Given the description of an element on the screen output the (x, y) to click on. 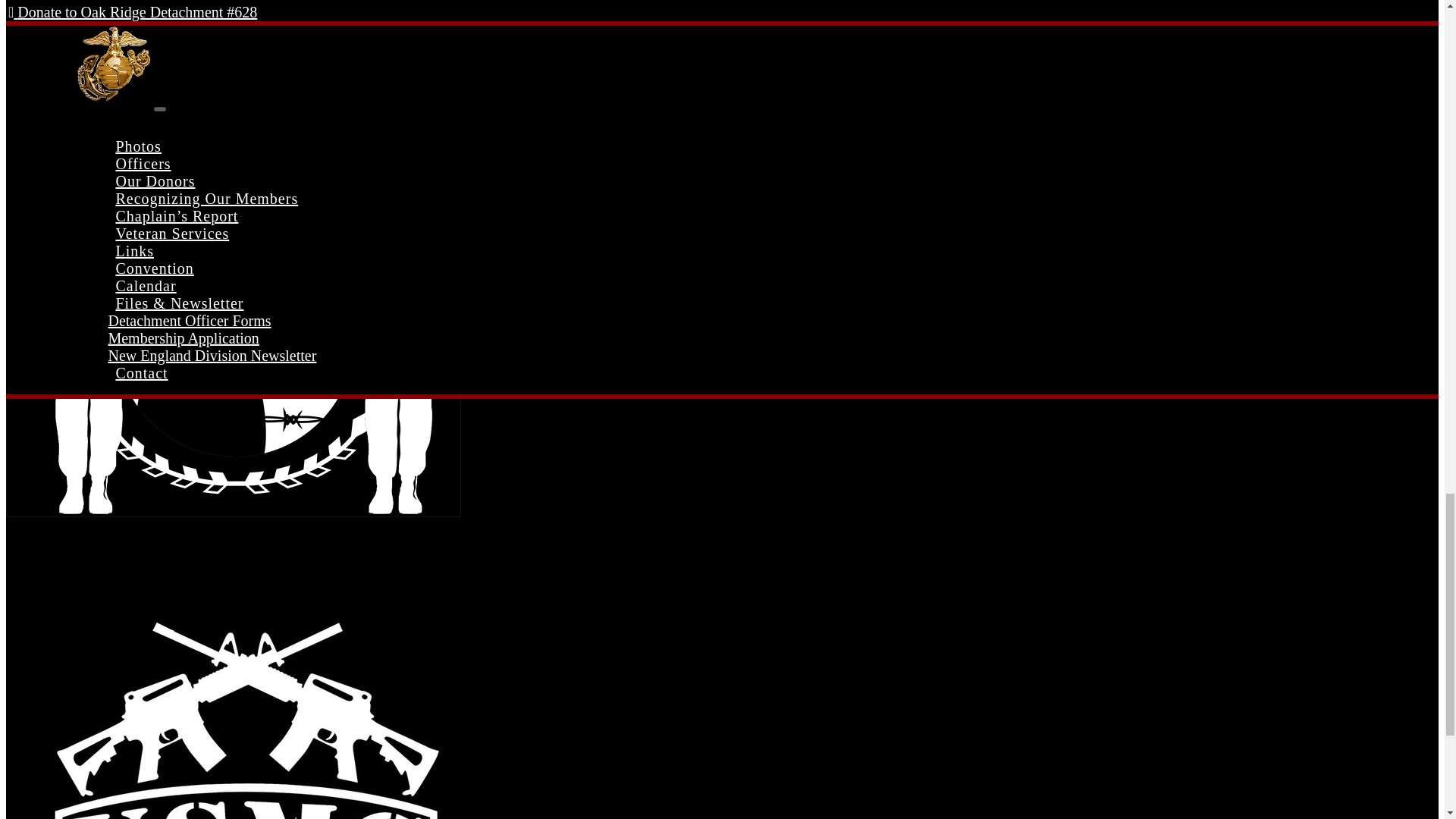
MarineCorpsLogoBlackAndWhite (226, 80)
